Given the description of an element on the screen output the (x, y) to click on. 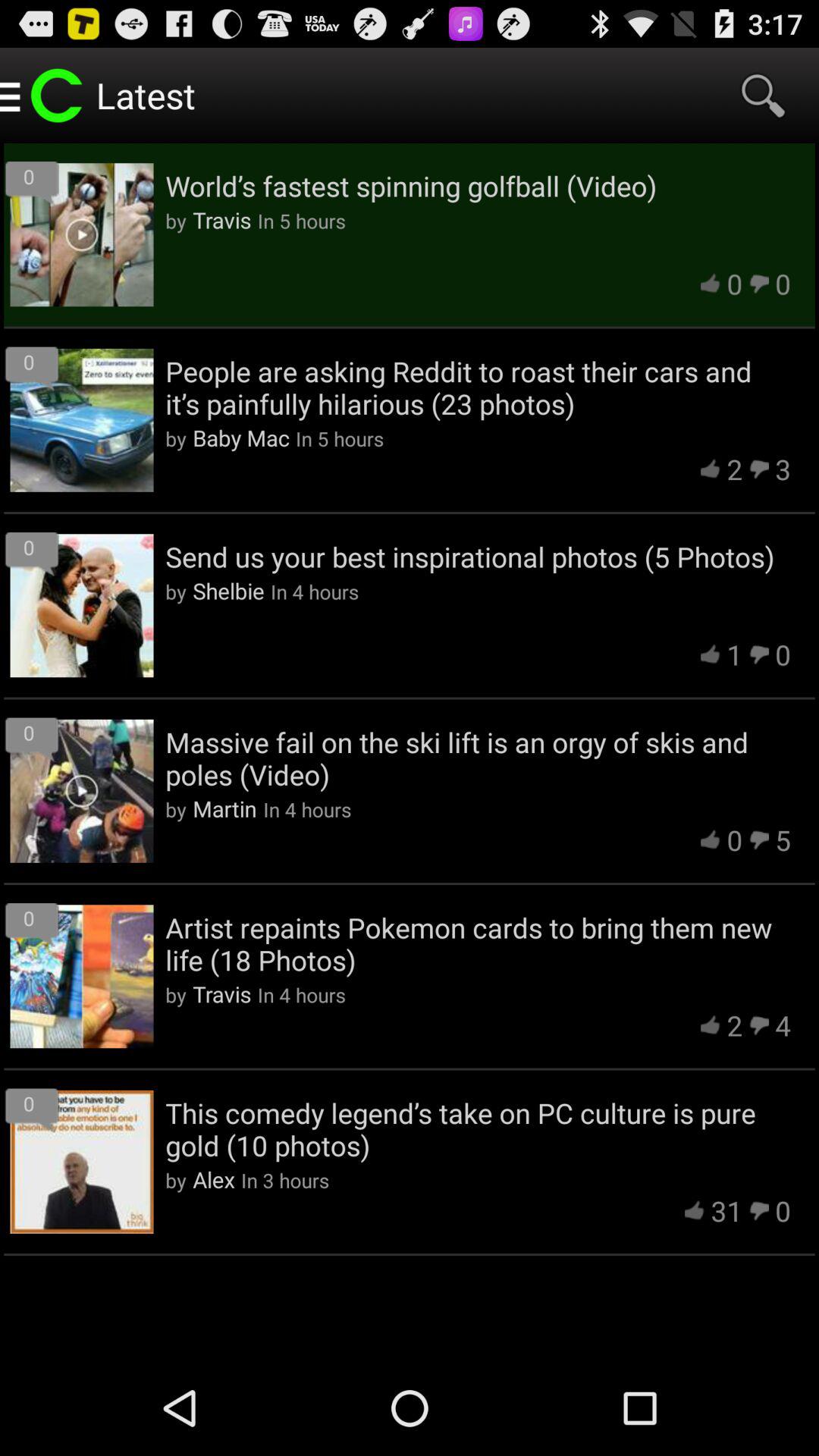
jump to world s fastest icon (478, 185)
